Given the description of an element on the screen output the (x, y) to click on. 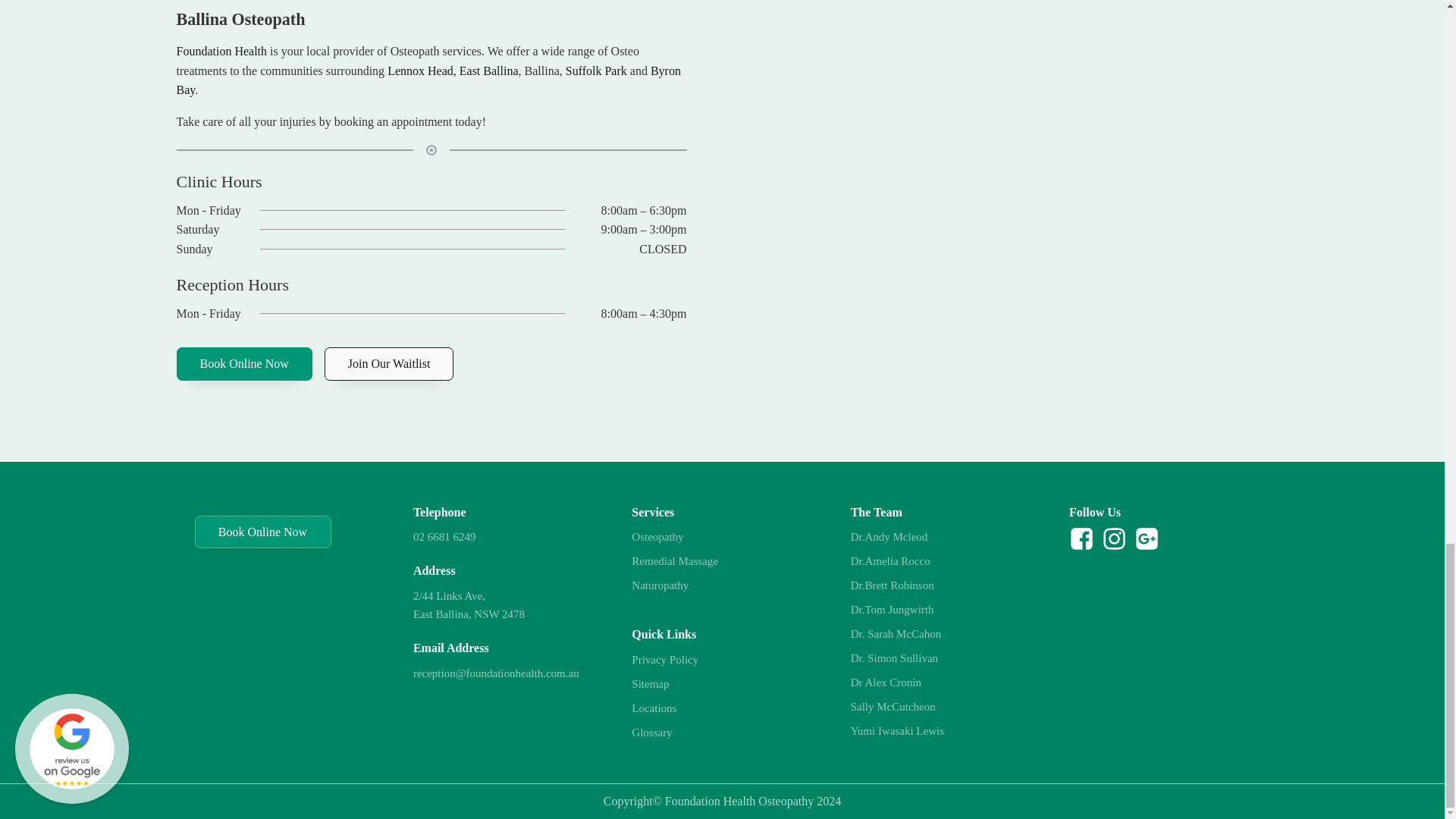
Lennox Head (419, 70)
Book Online Now (243, 363)
Suffolk Park (596, 70)
Foundation Health (221, 51)
Join Our Waitlist (389, 363)
Byron Bay (427, 80)
East Ballina (489, 70)
